Given the description of an element on the screen output the (x, y) to click on. 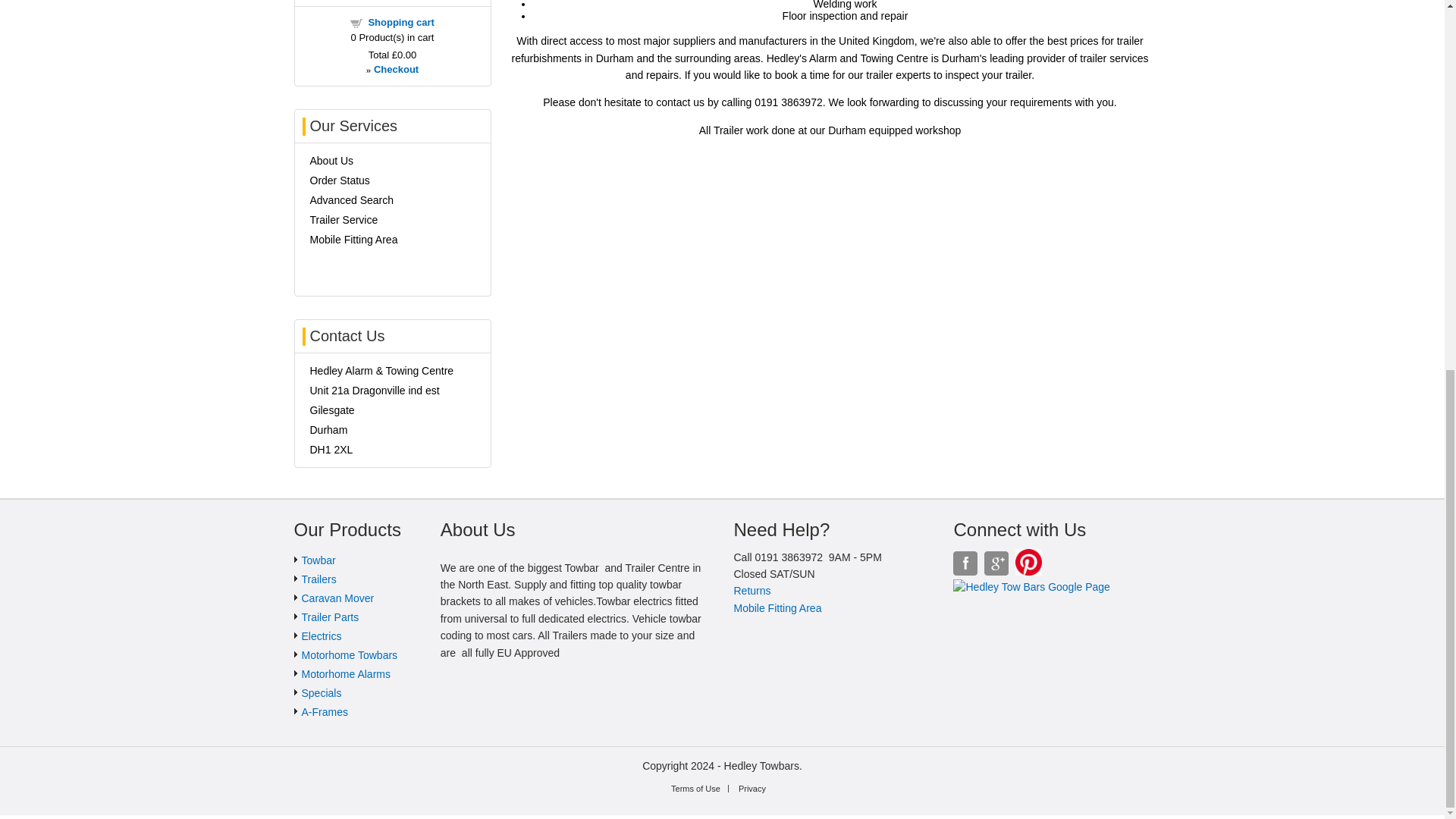
Trailer Service (342, 219)
Towbar (318, 560)
Shopping cart (400, 21)
Order Status (338, 180)
Checkout (396, 69)
Advanced Search (350, 200)
About Us (330, 160)
Mobile Fitting Area (352, 239)
